Given the description of an element on the screen output the (x, y) to click on. 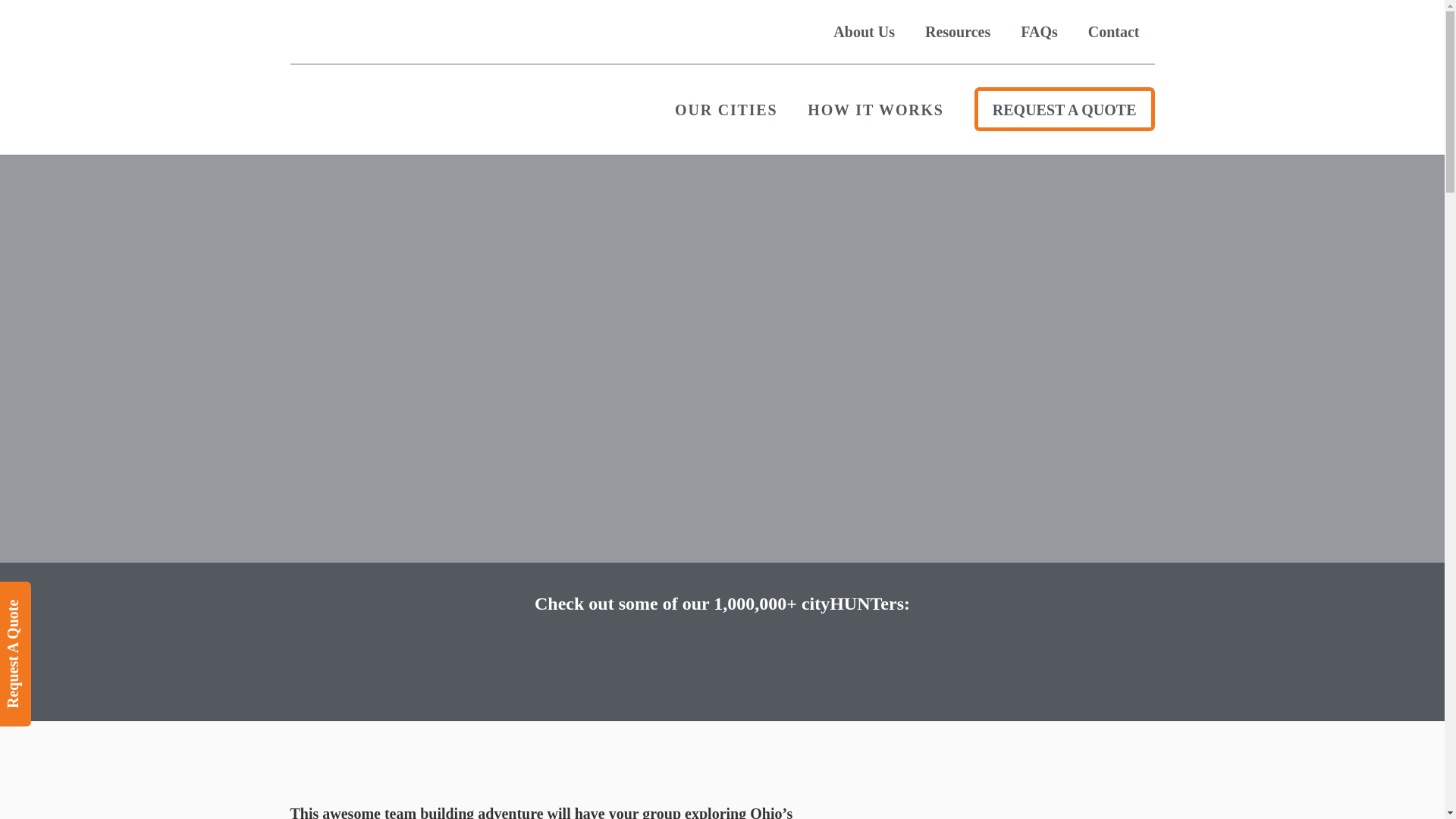
Contact (1113, 31)
About Us (864, 31)
Request A Quote (69, 598)
FAQs (1039, 31)
OUR CITIES (726, 108)
Resources (958, 31)
HOW IT WORKS (875, 108)
REQUEST A QUOTE (1064, 108)
